Given the description of an element on the screen output the (x, y) to click on. 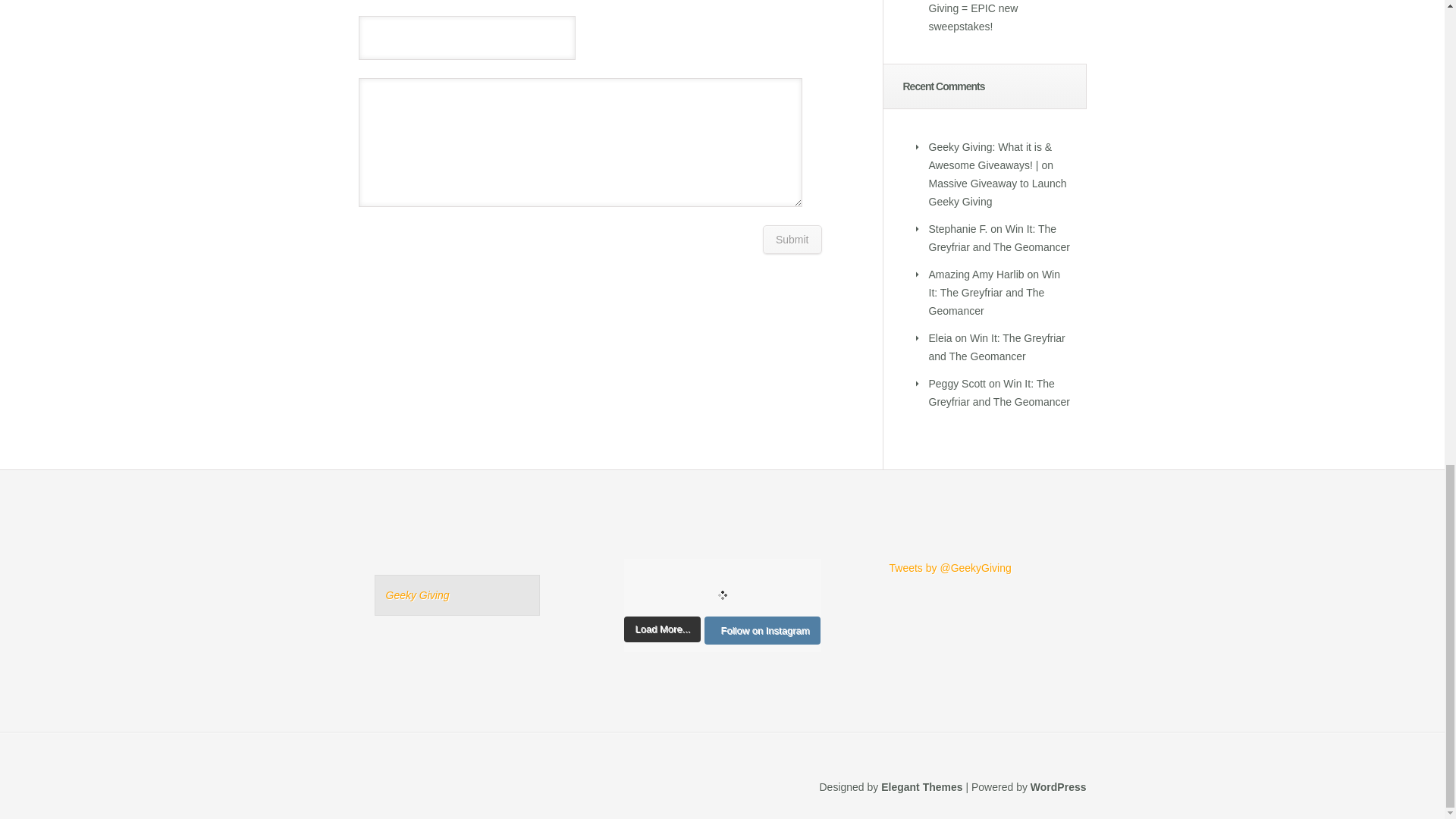
Submit (792, 239)
Submit (792, 239)
Premium WordPress Themes (921, 787)
